Given the description of an element on the screen output the (x, y) to click on. 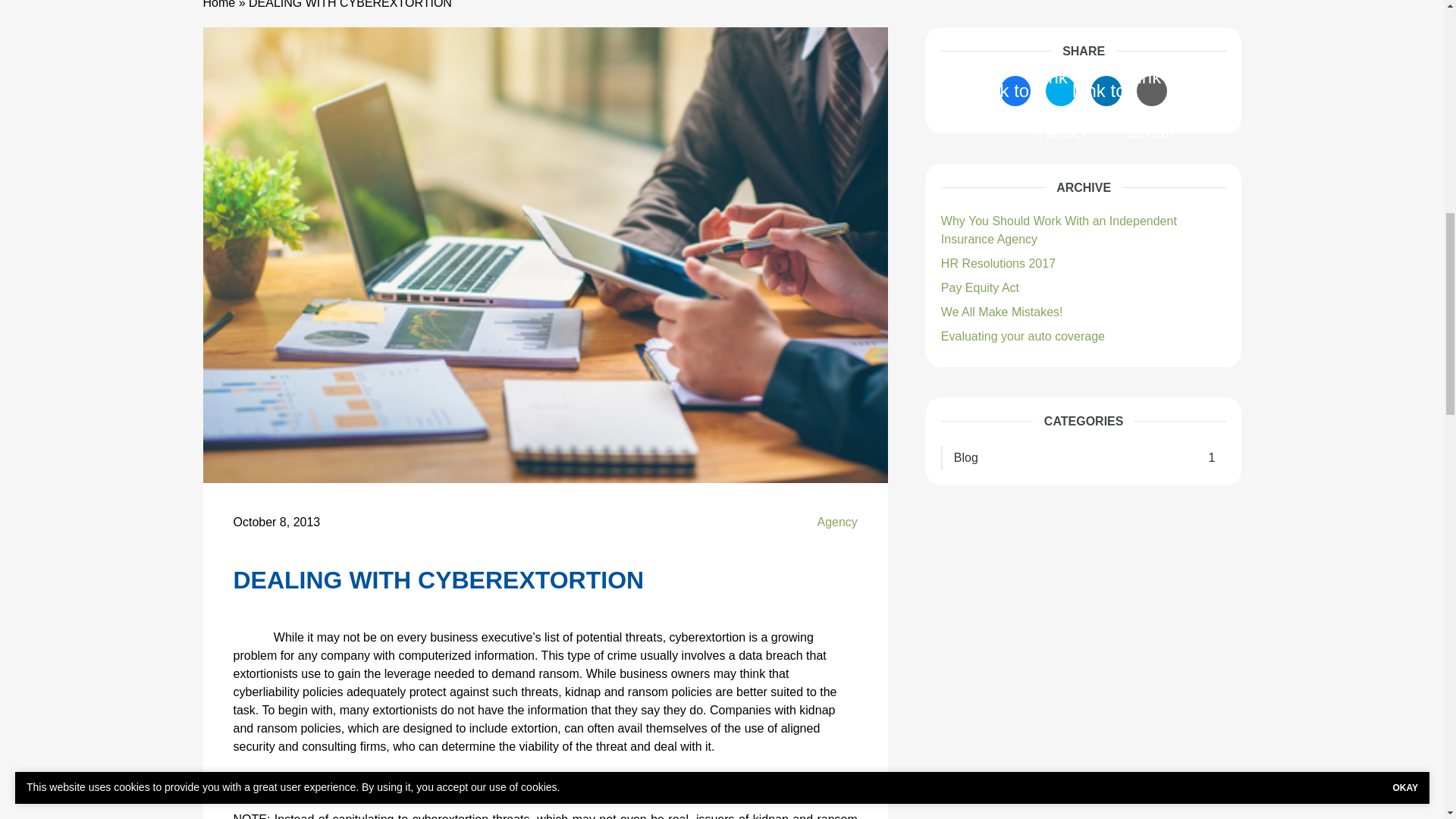
Agency (836, 522)
